Given the description of an element on the screen output the (x, y) to click on. 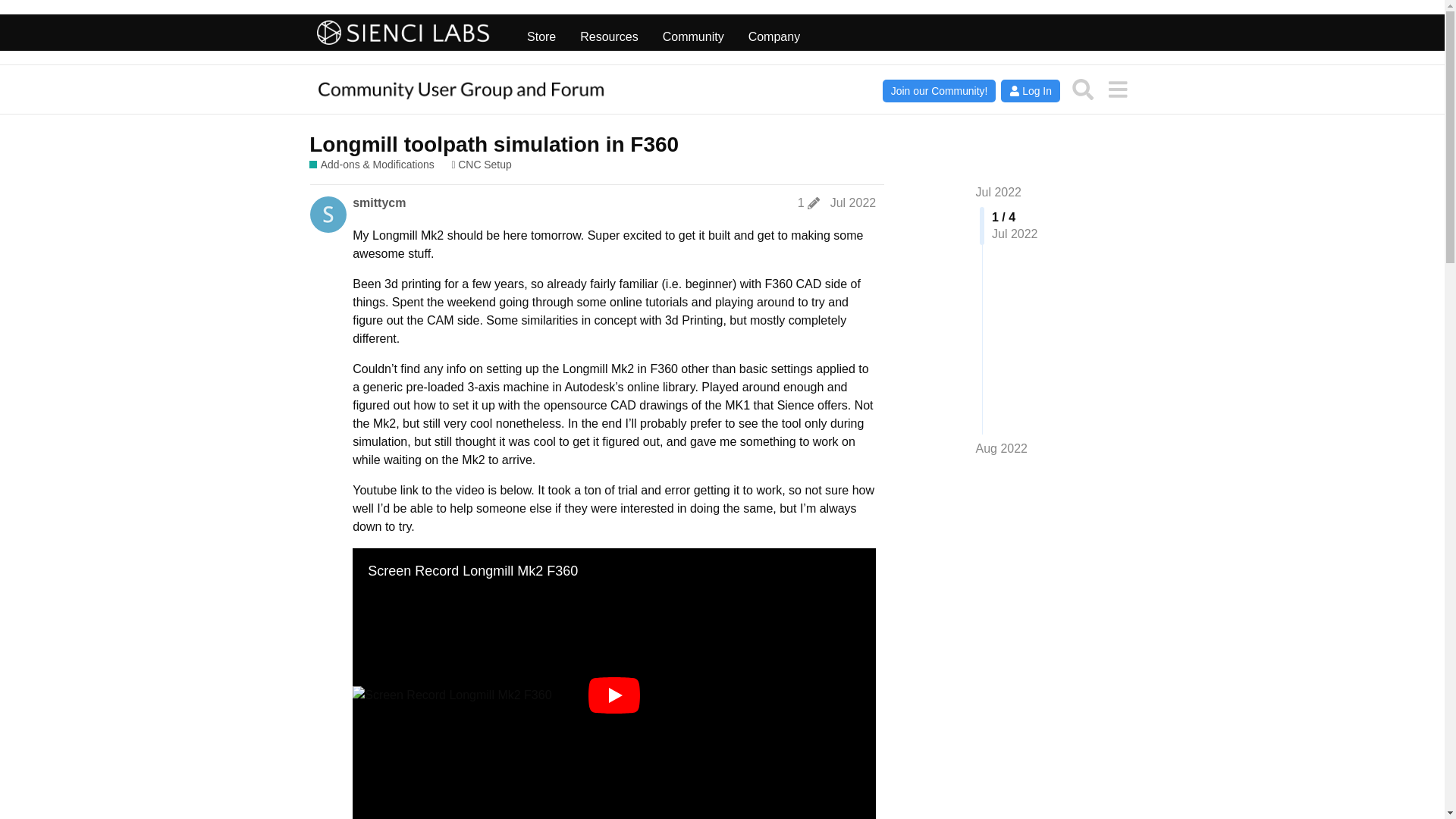
Store (541, 32)
Jul 2022 (998, 192)
Jump to the first post (998, 192)
Post date (852, 202)
Jul 2022 (852, 202)
Jump to the last post (1001, 448)
Company (773, 32)
menu (1117, 89)
Screen Record Longmill Mk2 F360 (614, 695)
Aug 2022 (1001, 448)
